Given the description of an element on the screen output the (x, y) to click on. 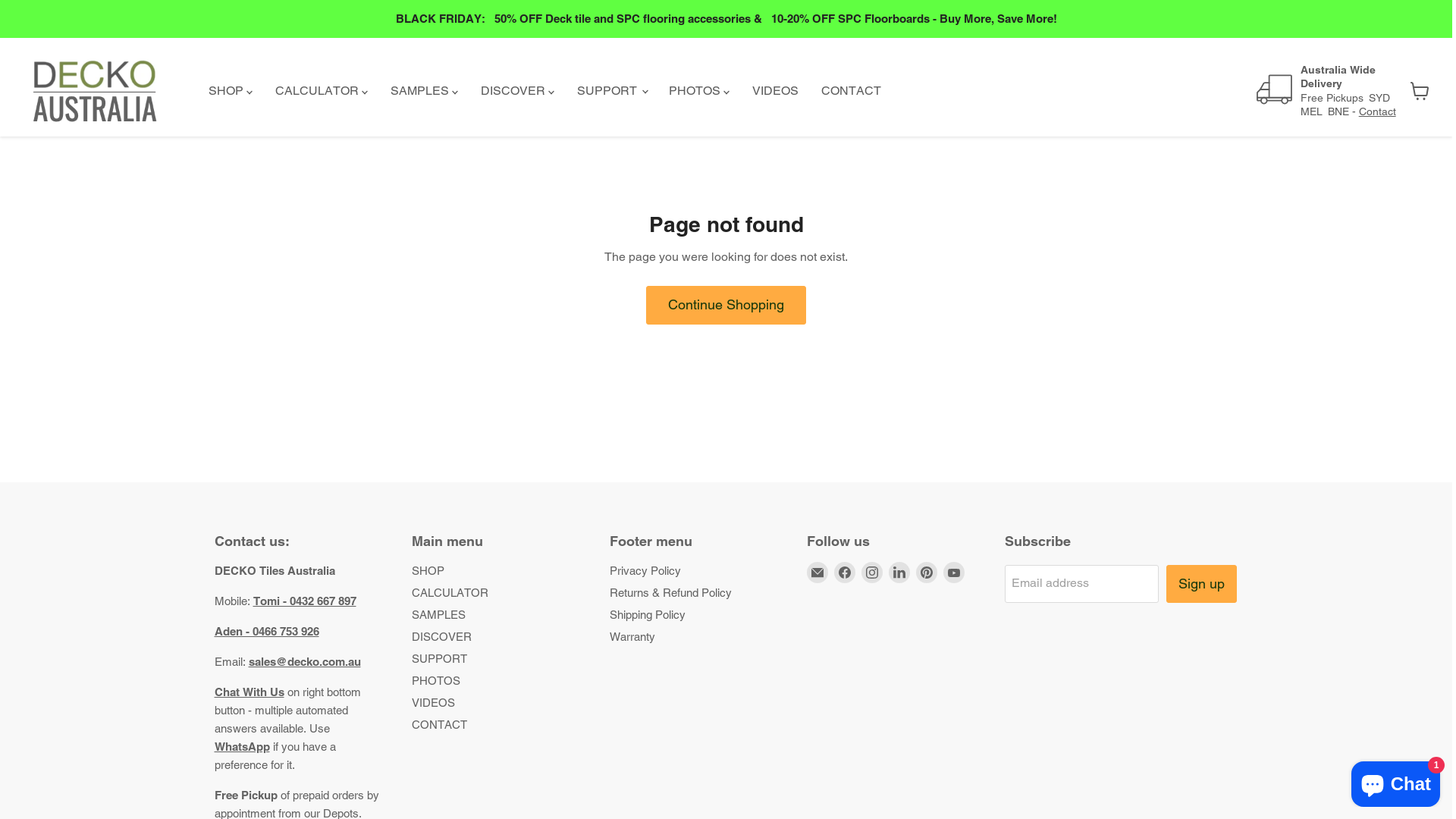
WhatsApp Element type: text (241, 746)
sales@decko.com.au Element type: text (304, 661)
Find us on Instagram Element type: text (871, 572)
Warranty Element type: text (632, 636)
CALCULATOR Element type: text (449, 592)
Continue Shopping Element type: text (726, 304)
DISCOVER Element type: text (441, 636)
Returns & Refund Policy Element type: text (670, 592)
Privacy Policy Element type: text (644, 570)
VIDEOS Element type: text (774, 90)
Australia Wide Delivery Element type: text (1353, 76)
Shipping Policy Element type: text (647, 614)
Find us on Pinterest Element type: text (926, 572)
Find us on YouTube Element type: text (953, 572)
Aden - 0466 753 926 Element type: text (265, 630)
Email DECKO Tiles Australia Element type: text (817, 572)
SUPPORT Element type: text (439, 658)
CONTACT Element type: text (439, 724)
SHOP Element type: text (427, 570)
SAMPLES Element type: text (438, 614)
VIDEOS Element type: text (433, 702)
CONTACT Element type: text (850, 90)
Contact Element type: text (1377, 111)
Find us on LinkedIn Element type: text (899, 572)
Shopify online store chat Element type: hover (1395, 780)
Sign up Element type: text (1201, 583)
Tomi - 0432 667 897 Element type: text (304, 600)
Find us on Facebook Element type: text (844, 572)
PHOTOS Element type: text (435, 680)
View cart Element type: text (1419, 90)
Chat With Us Element type: text (248, 691)
